Given the description of an element on the screen output the (x, y) to click on. 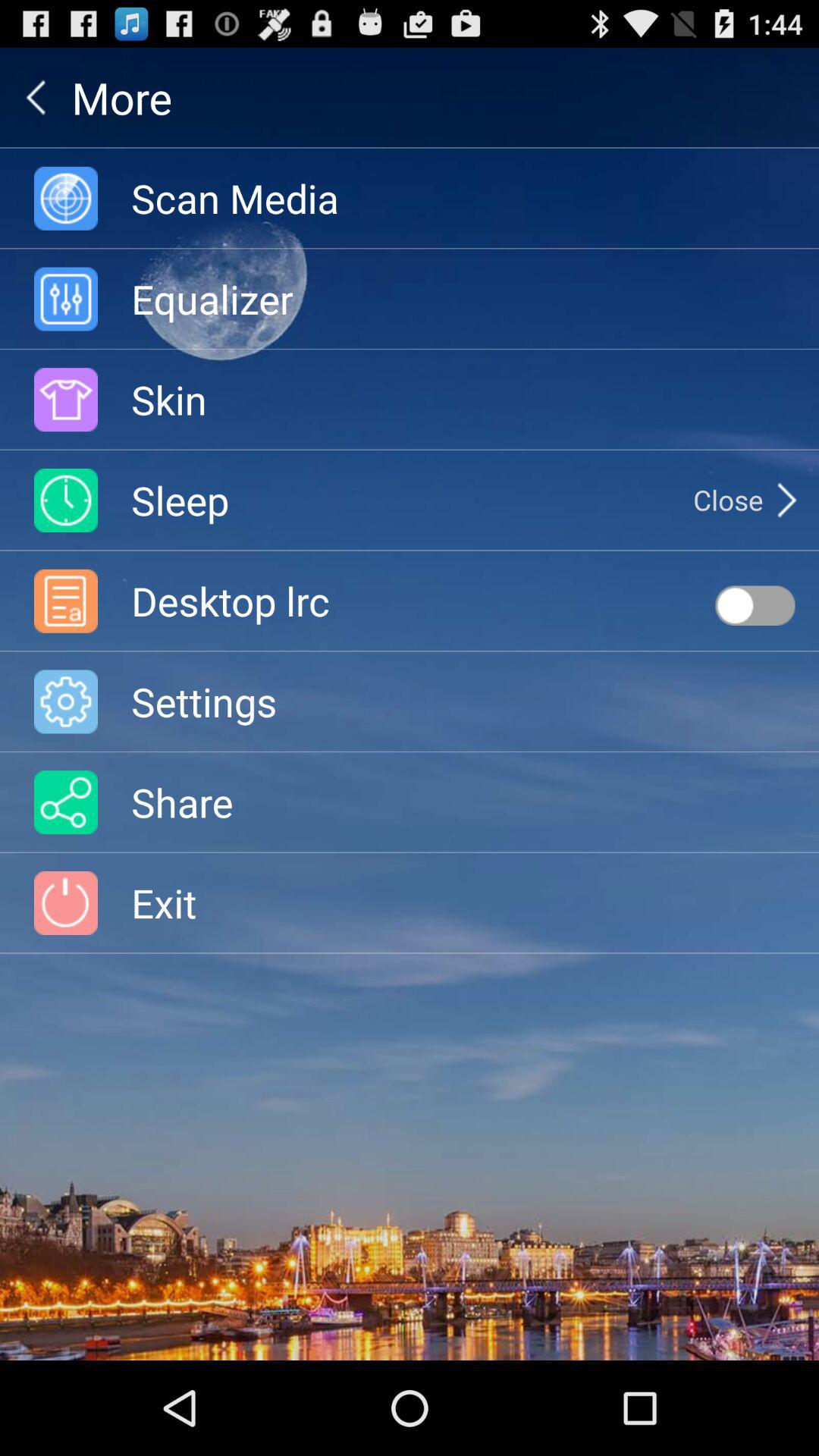
click the app next to the more icon (35, 97)
